Given the description of an element on the screen output the (x, y) to click on. 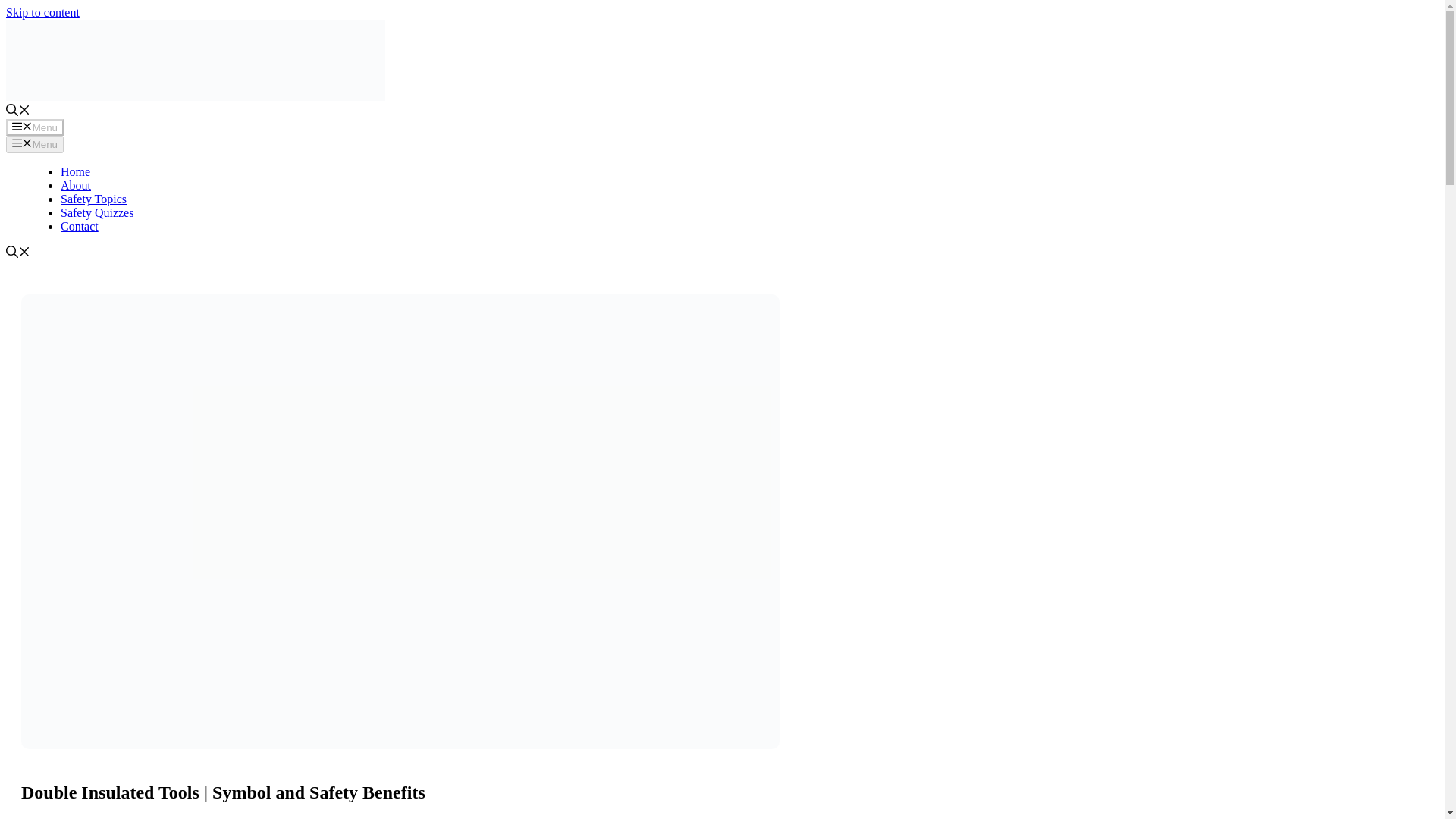
Safety Quizzes (97, 212)
Contact (80, 226)
Safety Topics (93, 198)
Skip to content (42, 11)
Skip to content (42, 11)
About (75, 185)
Home (75, 171)
Menu (34, 143)
Menu (34, 126)
